Given the description of an element on the screen output the (x, y) to click on. 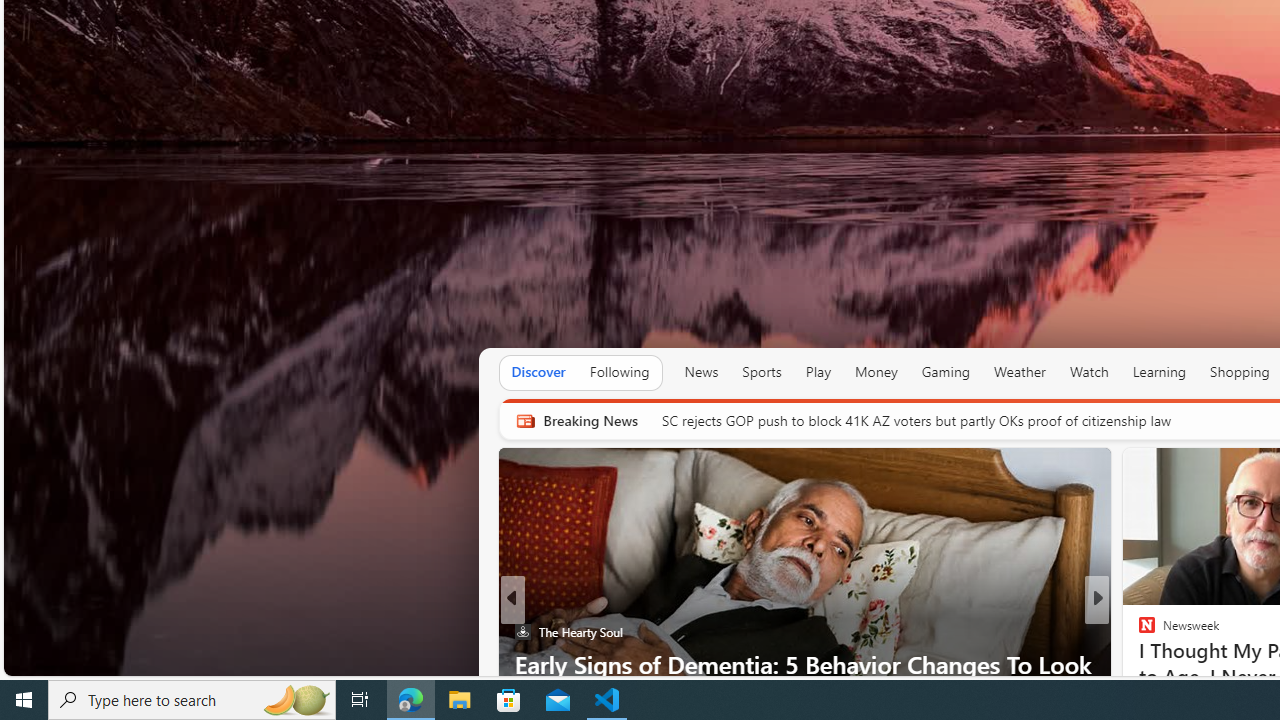
ETNT Mind+Body (1138, 632)
Constative (1138, 632)
Body Network (1138, 632)
